Given the description of an element on the screen output the (x, y) to click on. 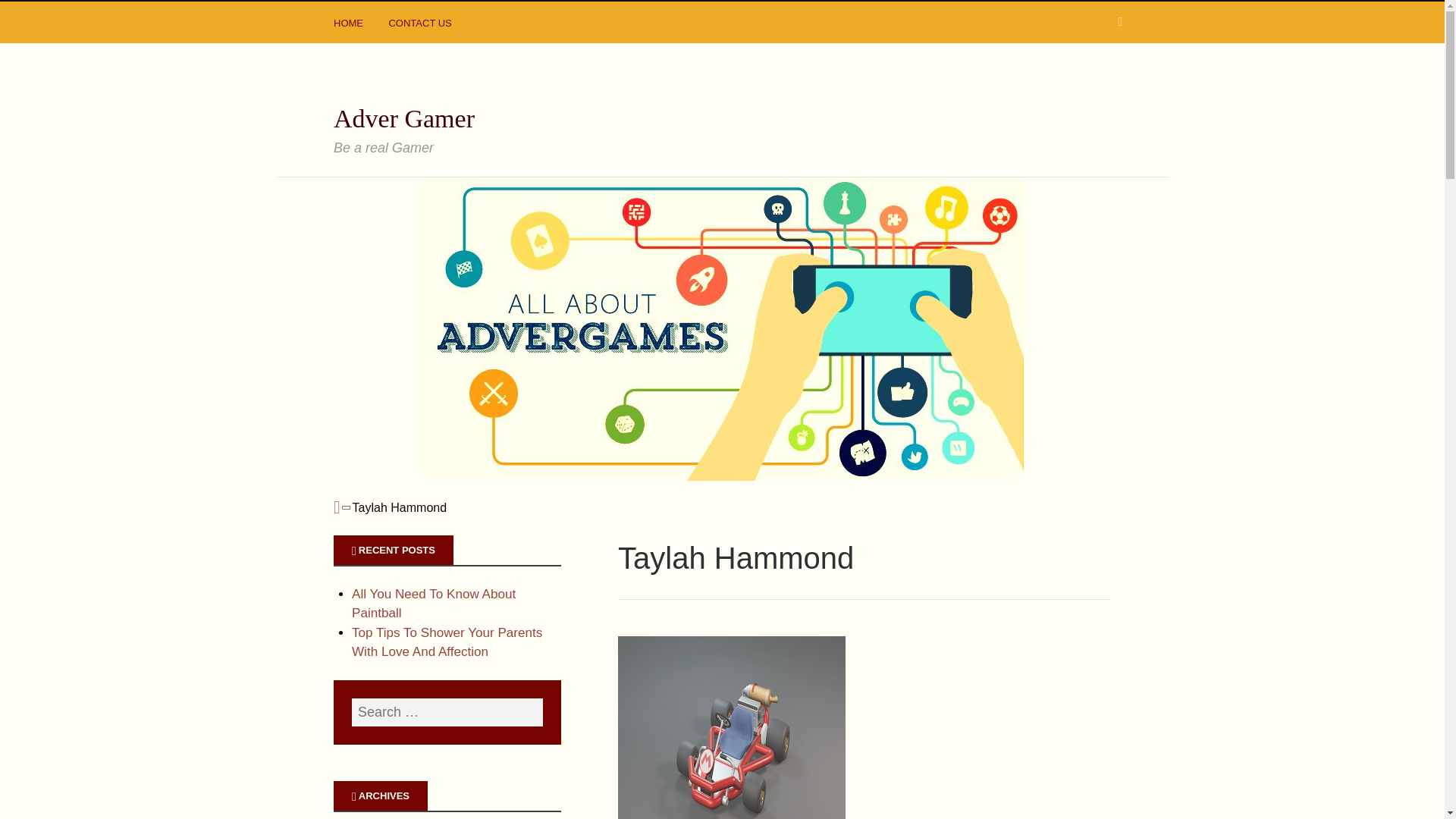
Top Tips To Shower Your Parents With Love And Affection (446, 642)
Search (30, 15)
CONTACT US (421, 26)
All You Need To Know About Paintball (433, 603)
Adver Gamer (403, 118)
HOME (349, 26)
